Given the description of an element on the screen output the (x, y) to click on. 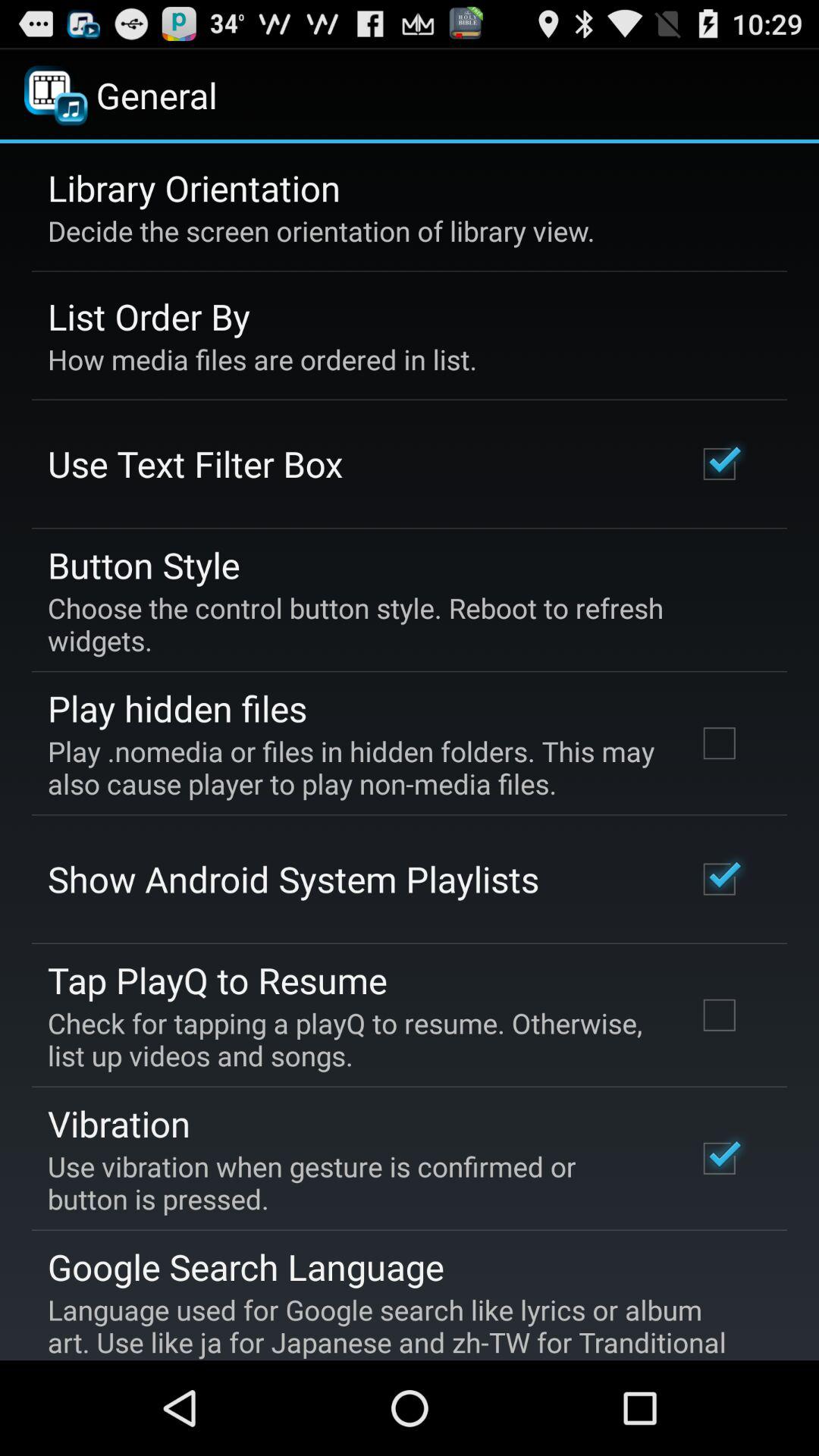
flip to the check for tapping app (351, 1039)
